Given the description of an element on the screen output the (x, y) to click on. 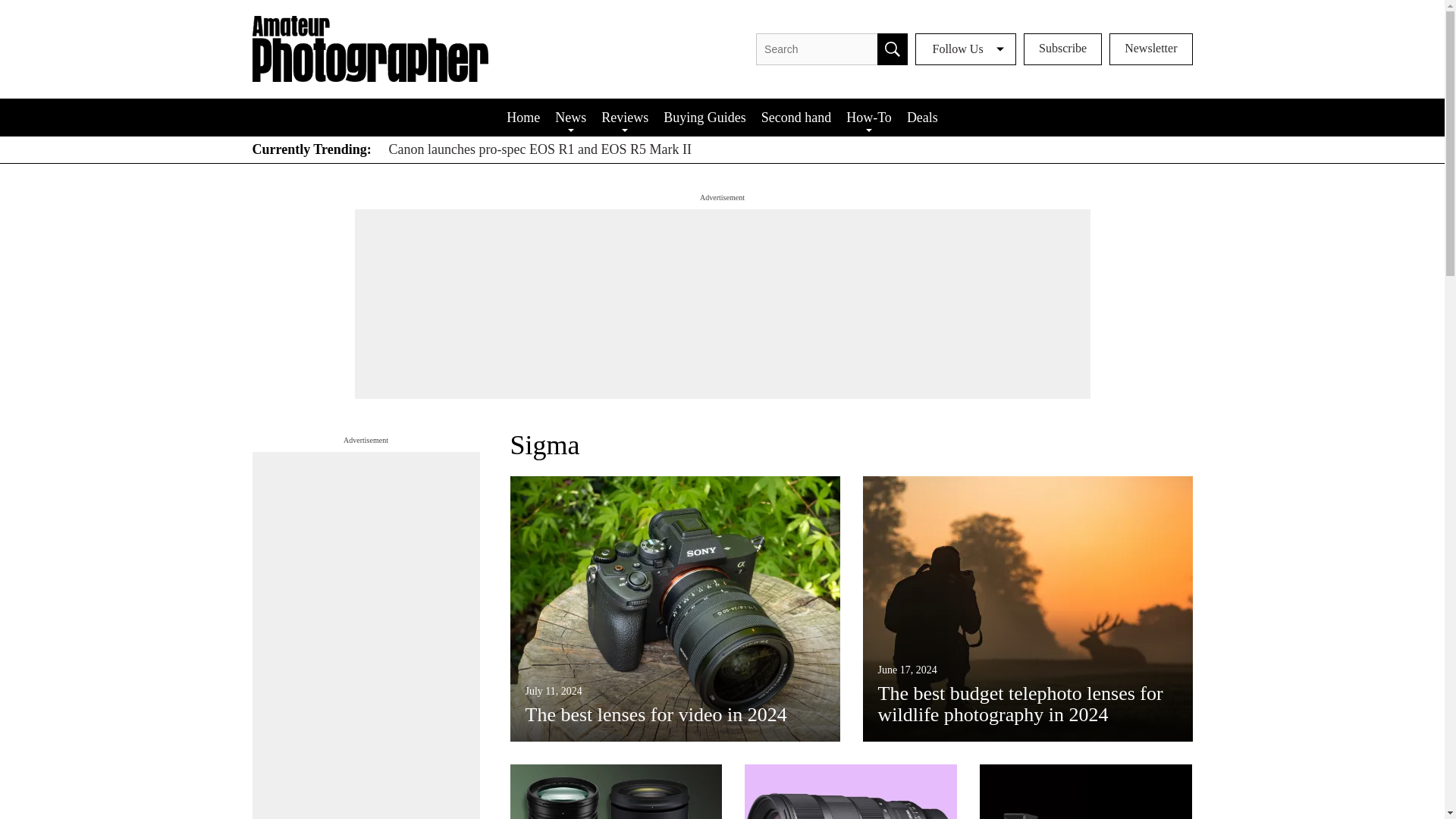
Search (892, 49)
Home (523, 117)
News (570, 117)
How-To (868, 117)
Newsletter (1150, 49)
Deals (921, 117)
Follow Us (965, 49)
Second hand (796, 117)
Reviews (625, 117)
Buying Guides (705, 117)
